Given the description of an element on the screen output the (x, y) to click on. 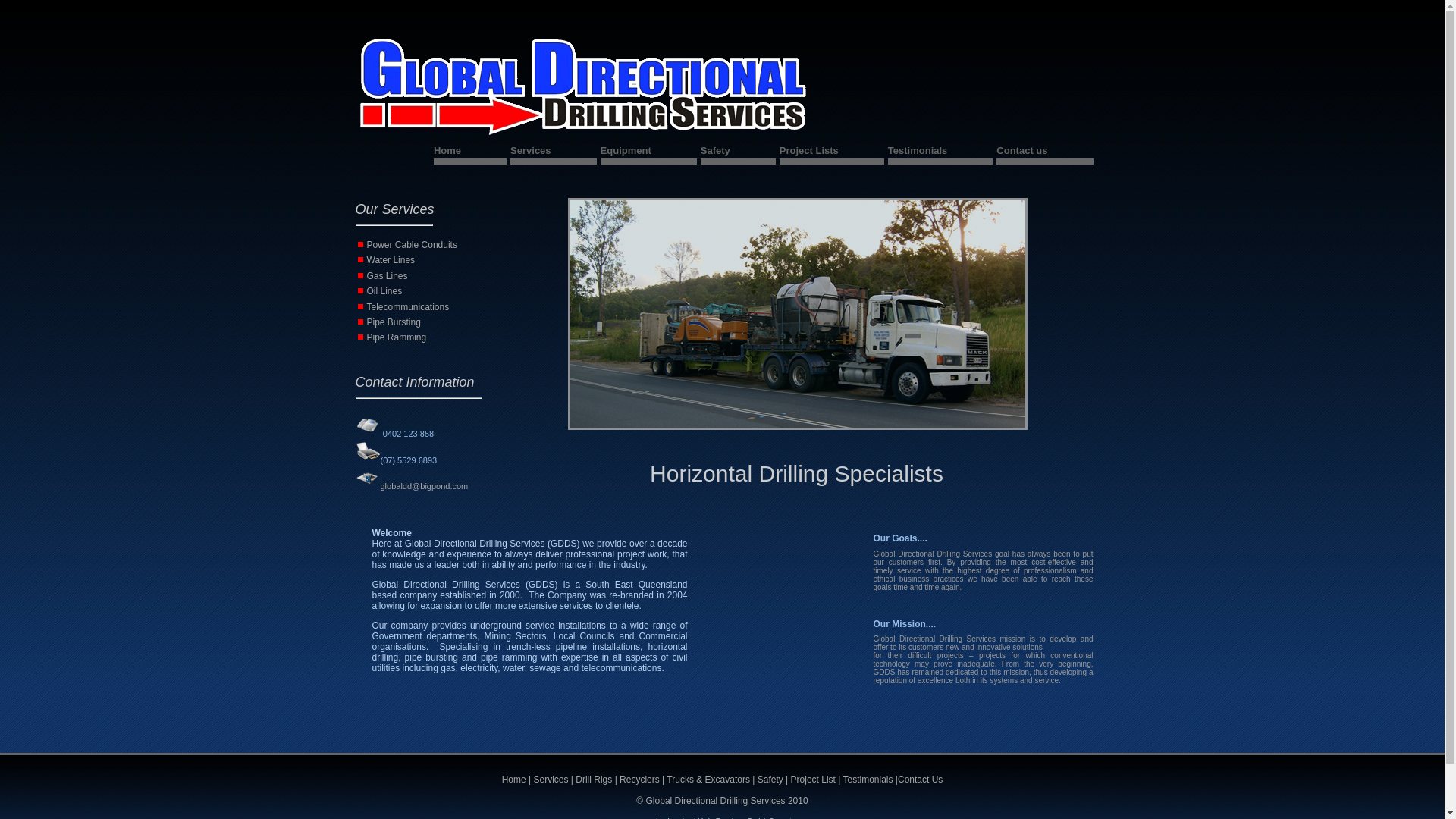
Pipe Ramming Element type: text (396, 337)
Home Element type: text (514, 779)
Project List Element type: text (812, 779)
Water Lines Element type: text (391, 259)
Safety Element type: text (770, 779)
Testimonials Element type: text (868, 779)
Telecommunications Element type: text (408, 306)
Home Element type: text (469, 152)
Equipment Element type: text (648, 152)
Recyclers Element type: text (639, 779)
Contact us Element type: text (1044, 152)
globaldd@bigpond.com Element type: text (423, 485)
Power Cable Conduits Element type: text (412, 244)
Testimonials Element type: text (940, 152)
Project Lists Element type: text (831, 152)
Services Element type: text (553, 152)
Gas Lines Element type: text (387, 275)
Trucks & Excavators Element type: text (707, 779)
Drill Rigs Element type: text (594, 779)
Oil Lines Element type: text (384, 290)
Contact Us Element type: text (919, 779)
Safety Element type: text (737, 152)
Pipe Bursting Element type: text (393, 321)
Services Element type: text (550, 779)
